Given the description of an element on the screen output the (x, y) to click on. 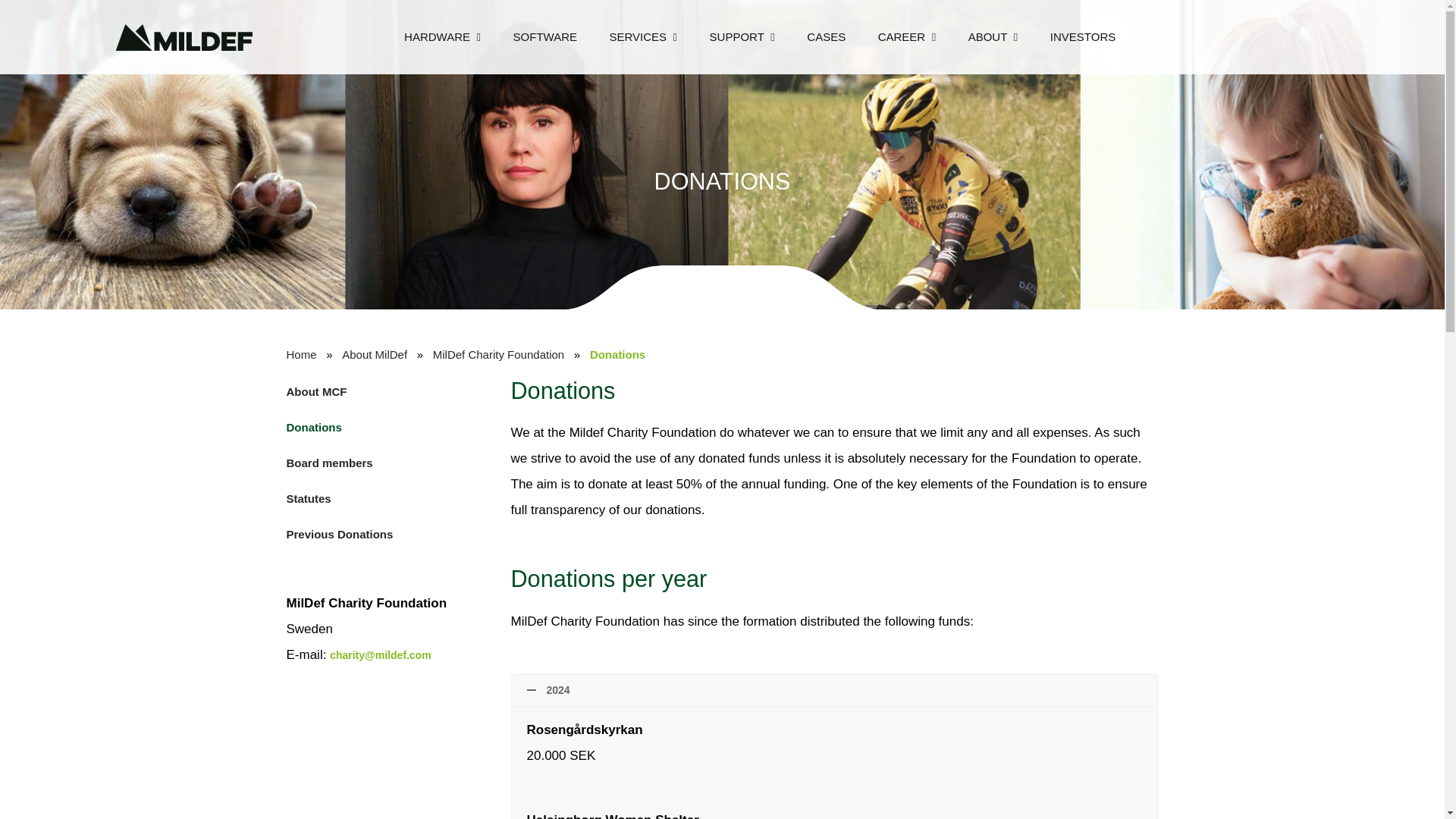
INVESTORS (1082, 36)
CAREER (906, 37)
Opens a widget where you can chat to one of our agents (57, 792)
CASES (826, 36)
HARDWARE (442, 37)
SUPPORT (742, 37)
ABOUT (992, 37)
SERVICES (642, 37)
SOFTWARE (544, 36)
